Given the description of an element on the screen output the (x, y) to click on. 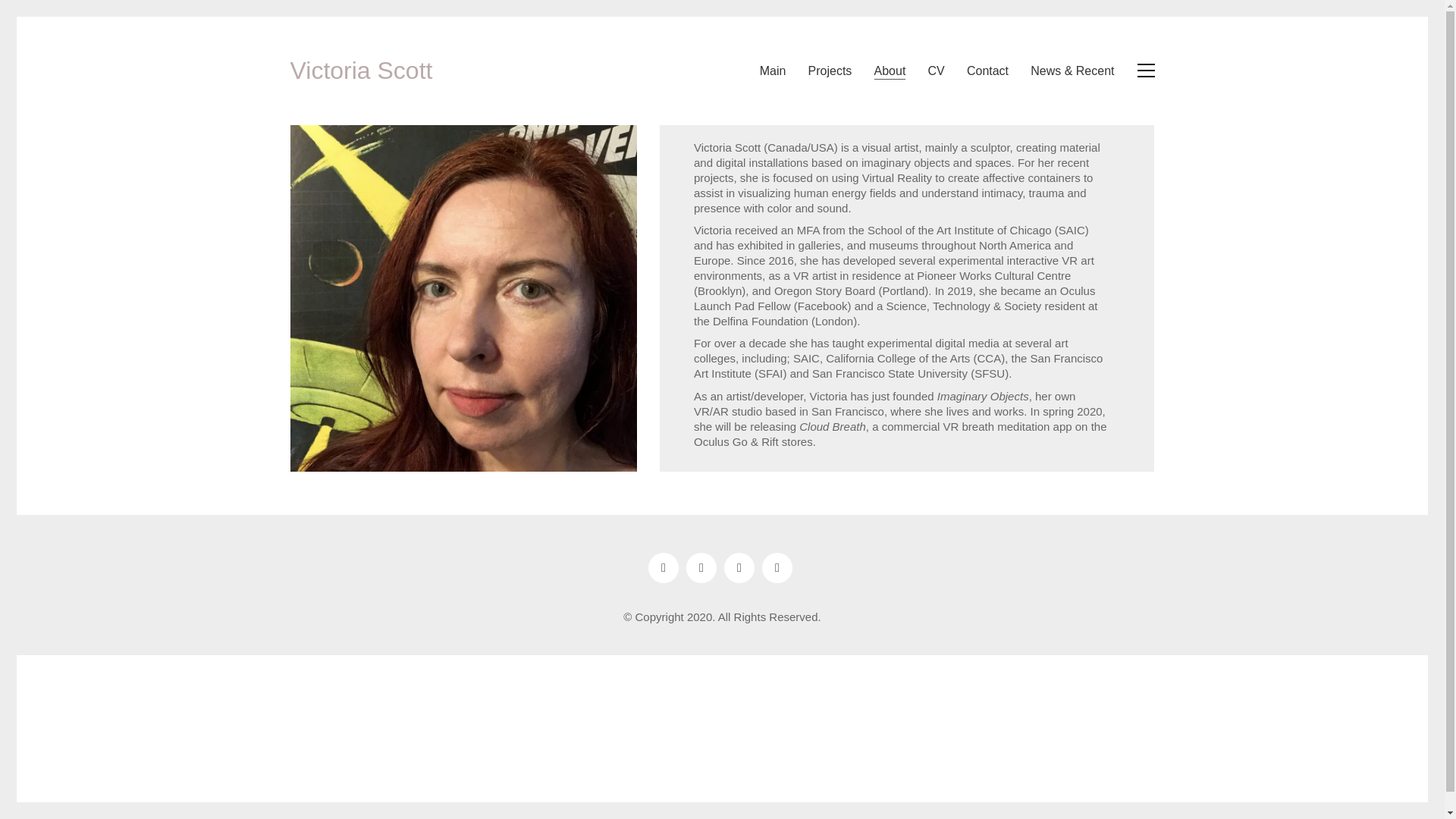
Victoria Scott (360, 70)
Contact (987, 70)
Facebook (776, 567)
Vimeo (738, 567)
Main (773, 70)
Projects (829, 70)
Email (700, 567)
Instagram (662, 567)
CV (936, 70)
02-VScott-Headshot-poster (463, 298)
